Given the description of an element on the screen output the (x, y) to click on. 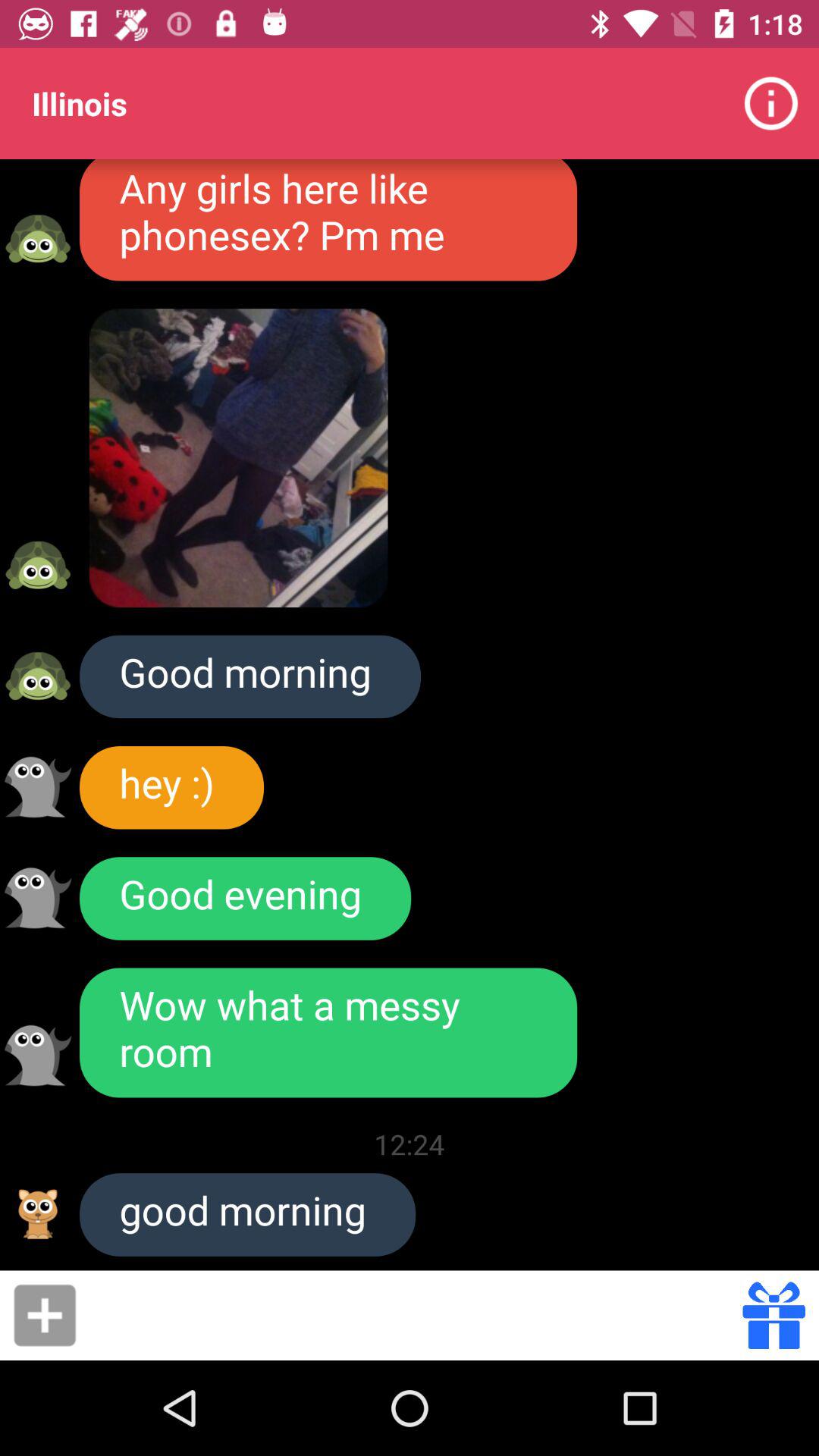
click on the button with plus symbol to post comment (44, 1315)
